Given the description of an element on the screen output the (x, y) to click on. 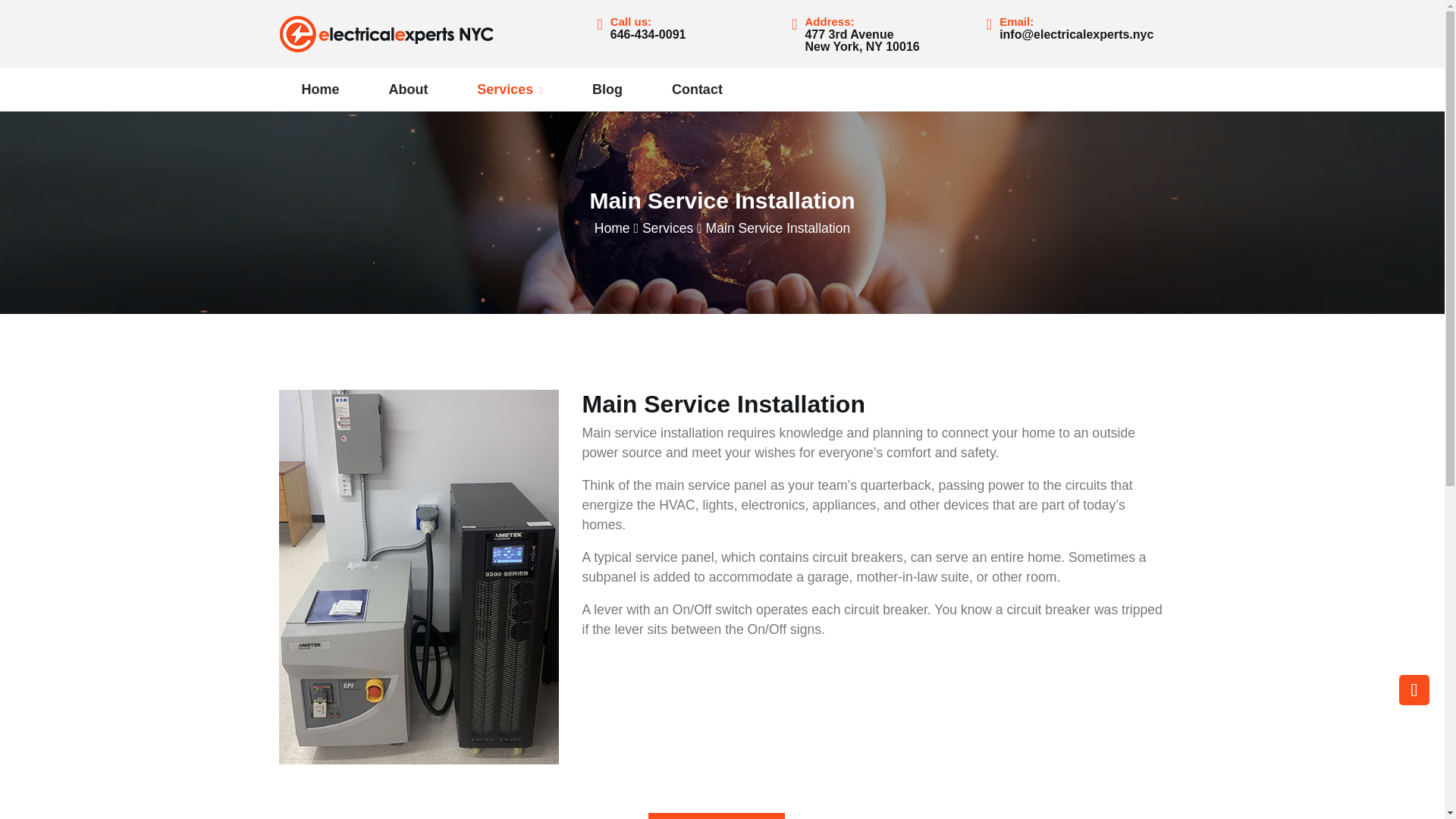
All Services (716, 816)
Services (667, 227)
646-434-0091 (647, 33)
Blog (607, 89)
Services (510, 89)
Home (861, 40)
Call us (612, 227)
Contact (1414, 582)
Home (696, 89)
About (320, 89)
